Given the description of an element on the screen output the (x, y) to click on. 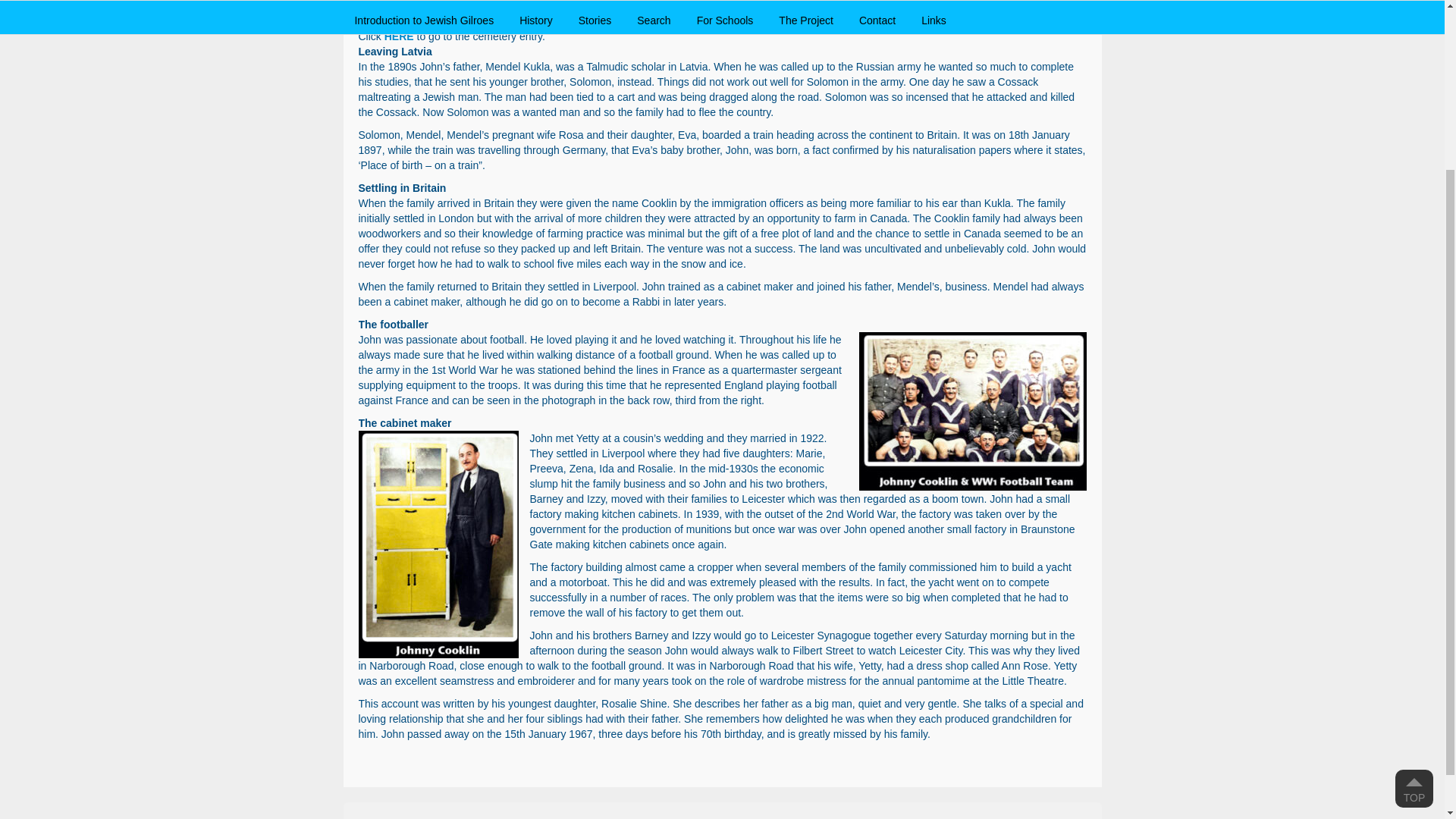
TOP (1413, 573)
Back to top (1413, 573)
HERE (398, 36)
